Given the description of an element on the screen output the (x, y) to click on. 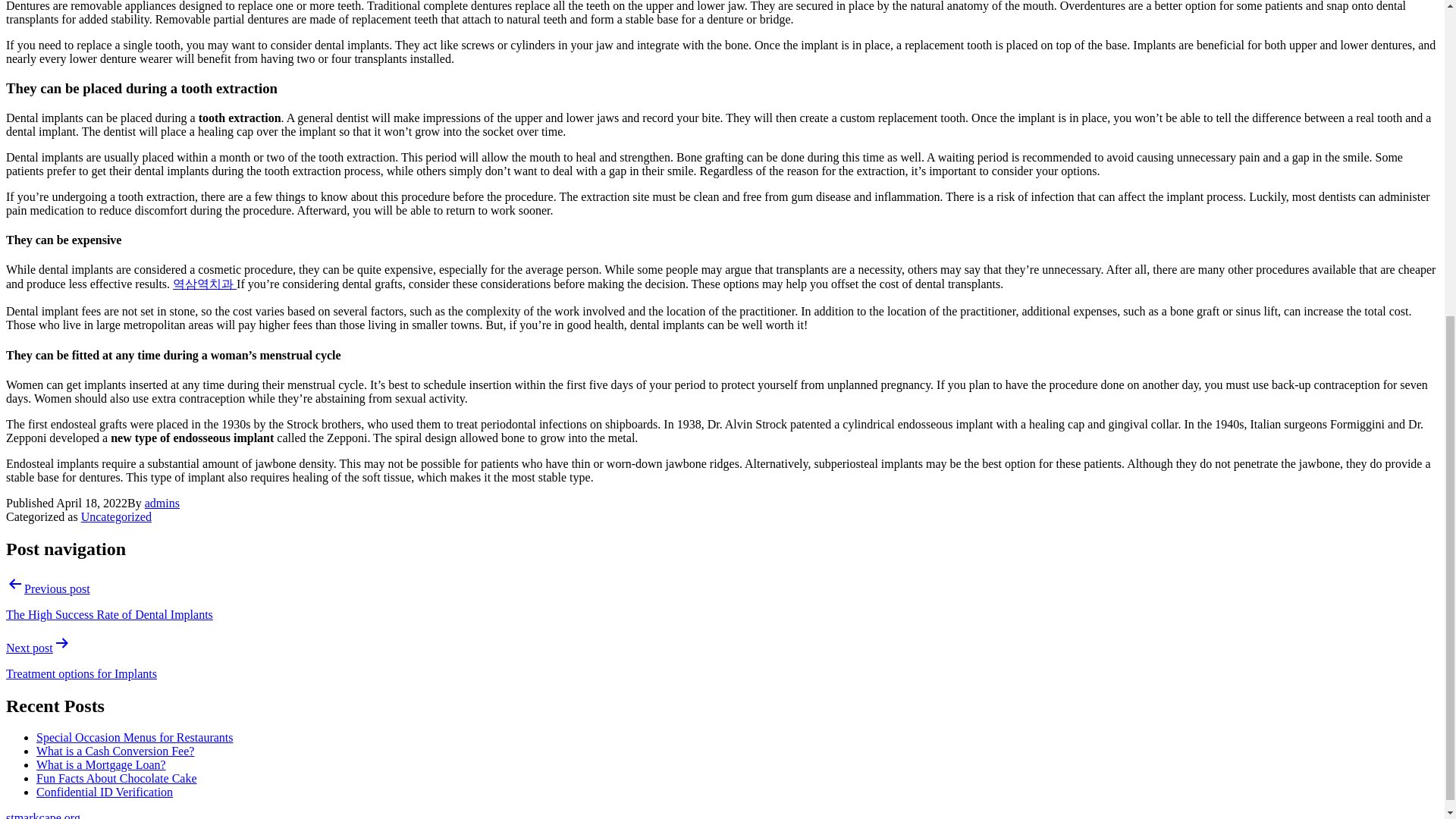
Fun Facts About Chocolate Cake (116, 778)
Uncategorized (116, 516)
admins (161, 502)
Confidential ID Verification (104, 791)
What is a Mortgage Loan? (100, 764)
Special Occasion Menus for Restaurants (134, 737)
What is a Cash Conversion Fee? (114, 750)
